Given the description of an element on the screen output the (x, y) to click on. 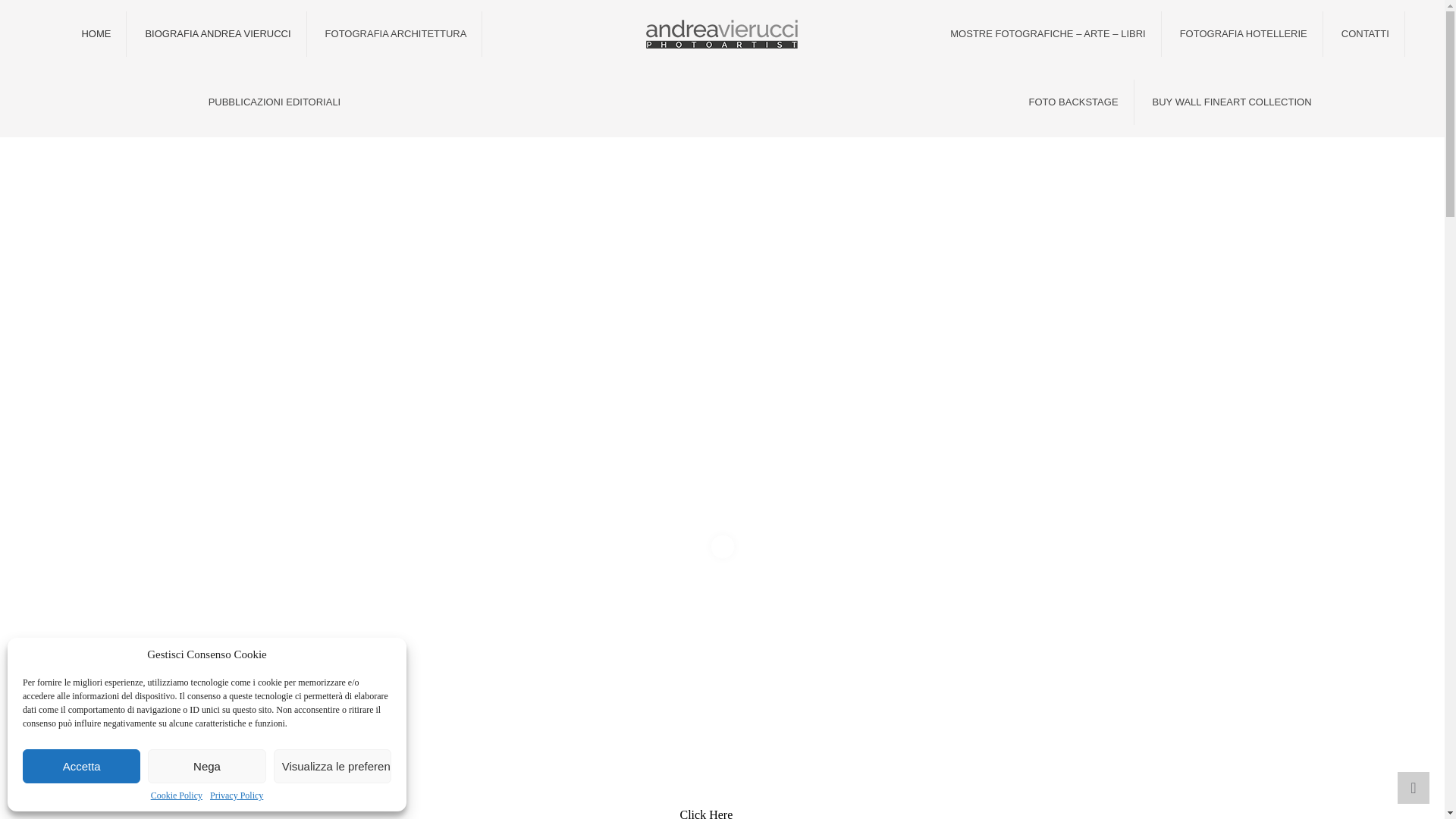
Visualizza le preferenze (332, 765)
FOTO BACKSTAGE (1073, 101)
Biografia del Fotografo Andrea Vierucci  (217, 33)
Contatti Andrea Vierucci Fotografo (1365, 33)
BIOGRAFIA ANDREA VIERUCCI (217, 33)
fotografia fine art architettura interior (95, 33)
Andrea Vierucci Fotografo (721, 33)
BUY WALL FINEART COLLECTION (1231, 101)
exposedpress.com (1231, 101)
CONTATTI (1365, 33)
FOTOGRAFIA ARCHITETTURA (396, 33)
Nega (206, 765)
HOME (95, 33)
Privacy Policy (236, 795)
Fotografia Hotellerie (1243, 33)
